Given the description of an element on the screen output the (x, y) to click on. 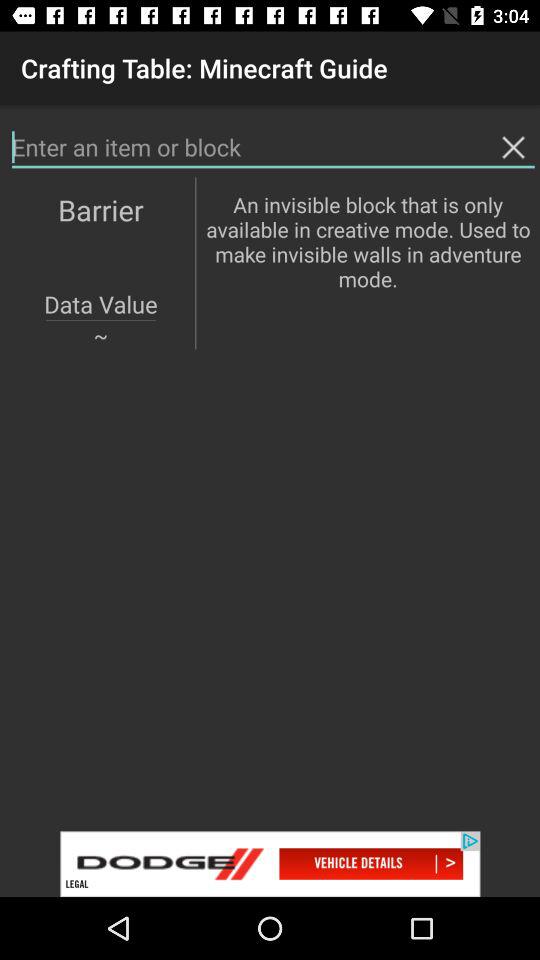
search page (273, 147)
